Given the description of an element on the screen output the (x, y) to click on. 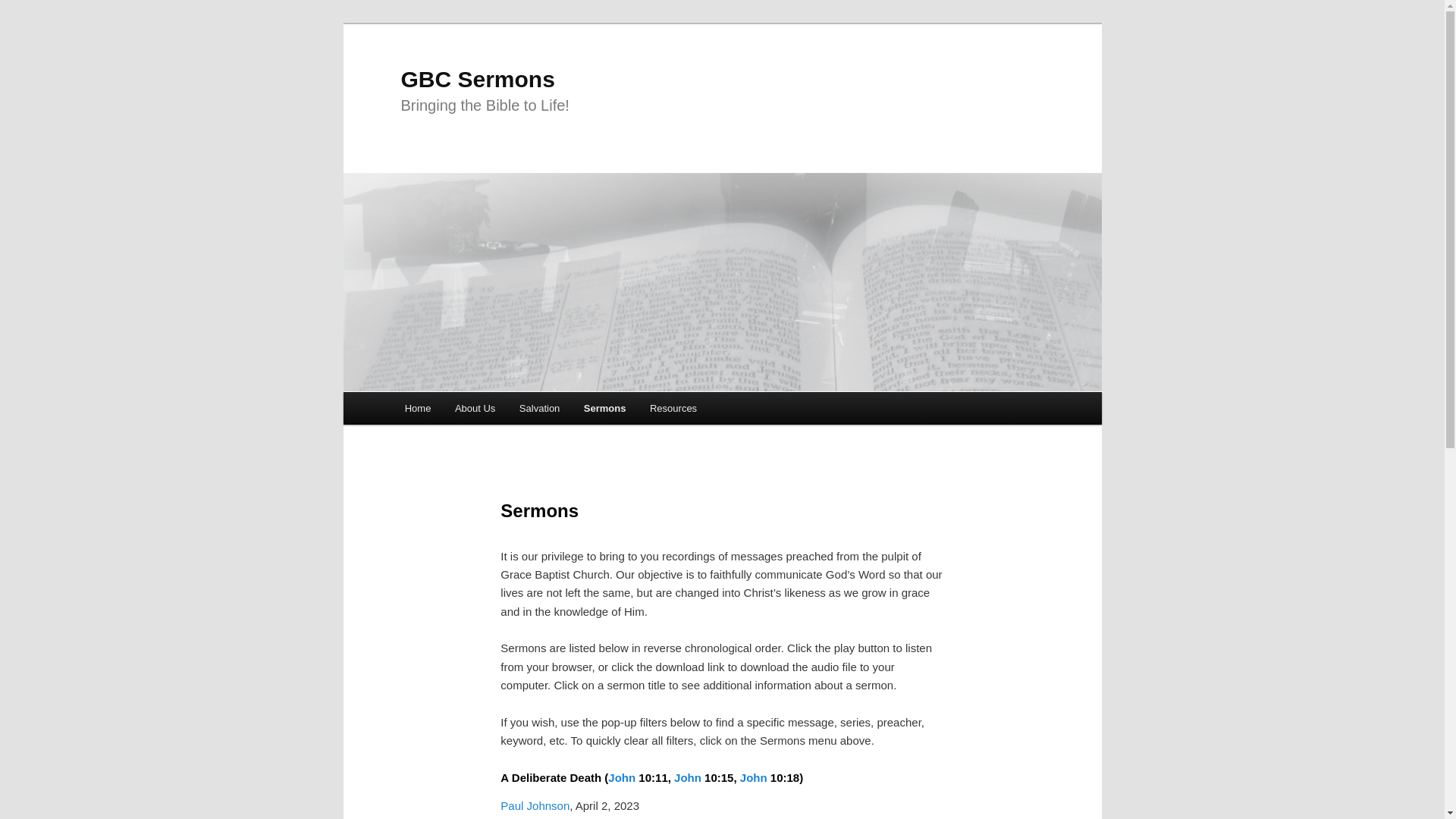
Skip to primary content (472, 410)
GBC Sermons (477, 78)
Salvation (539, 408)
John (687, 777)
Home (417, 408)
John (621, 777)
Skip to primary content (472, 410)
GBC Sermons (477, 78)
Skip to secondary content (479, 410)
Paul Johnson (534, 805)
Resources (673, 408)
Sunday Morning (770, 818)
John (753, 777)
About Us (474, 408)
Lord's Table (586, 818)
